Given the description of an element on the screen output the (x, y) to click on. 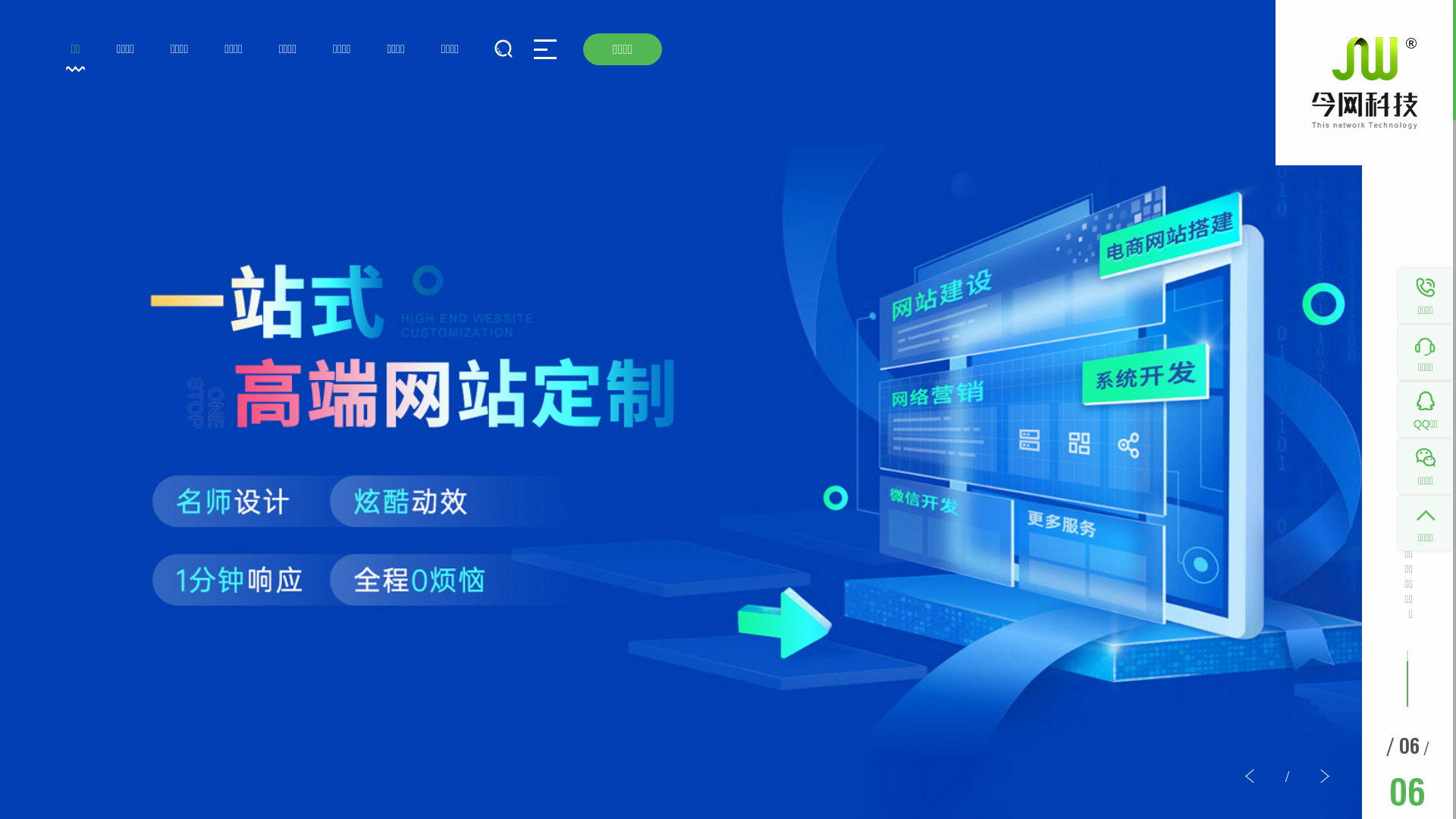
> Element type: text (1323, 776)
< Element type: text (1250, 776)
